Given the description of an element on the screen output the (x, y) to click on. 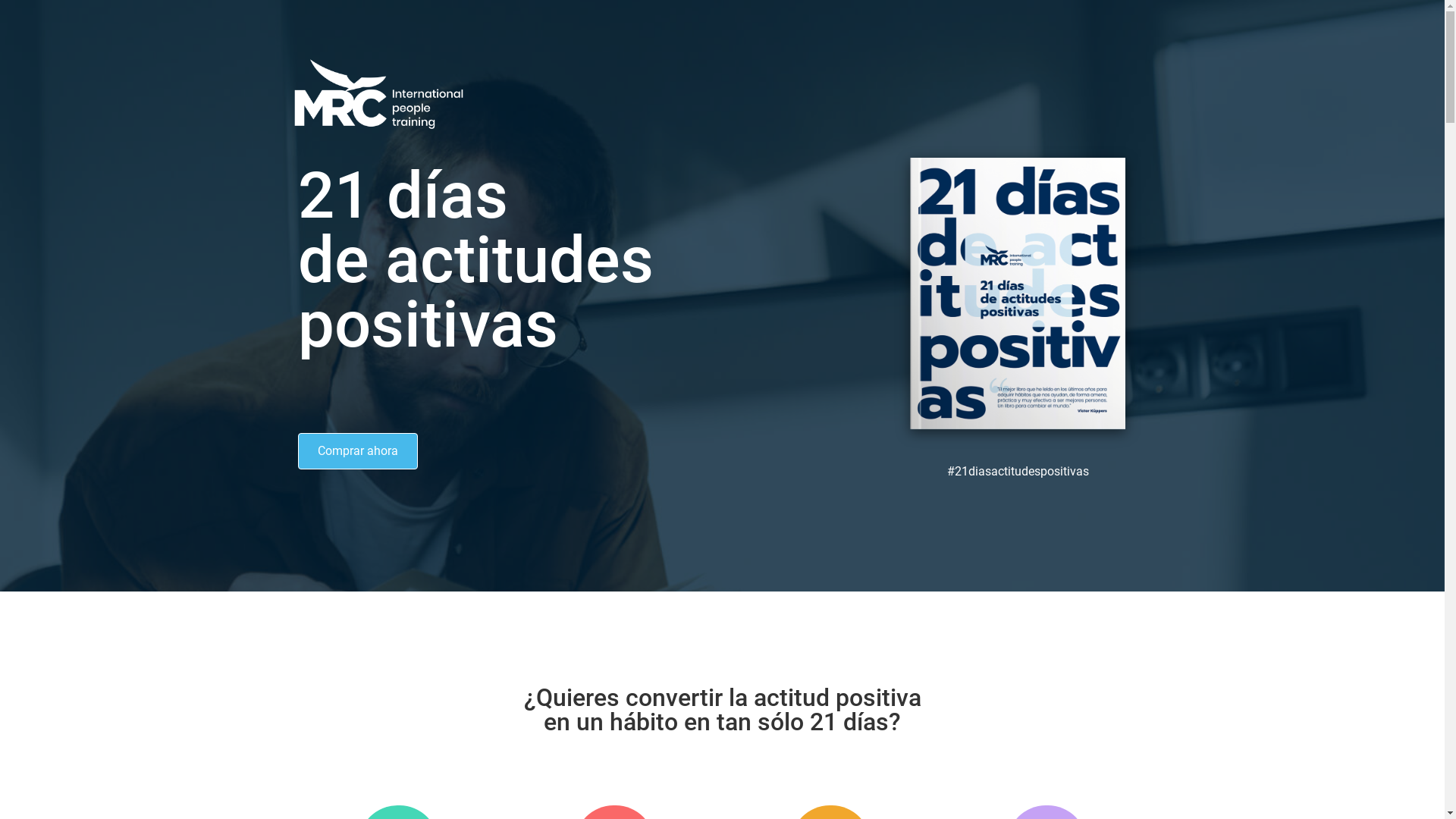
Comprar ahora Element type: text (357, 451)
